Given the description of an element on the screen output the (x, y) to click on. 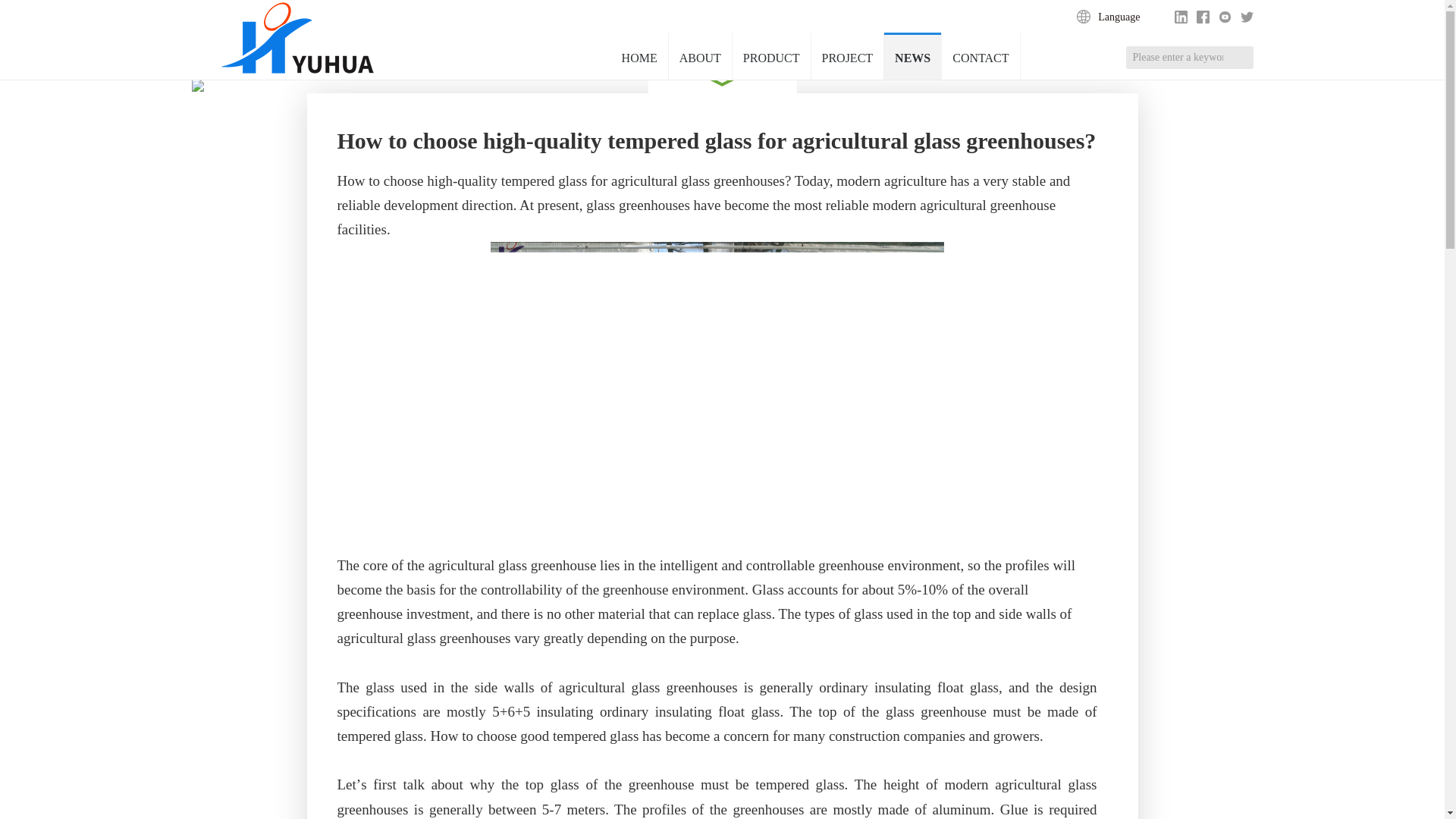
PROJECT (846, 55)
CONTACT (980, 55)
ABOUT (700, 55)
HOME (639, 55)
PRODUCT (771, 55)
1719215480125157.jpg (716, 384)
NEWS (911, 55)
